Given the description of an element on the screen output the (x, y) to click on. 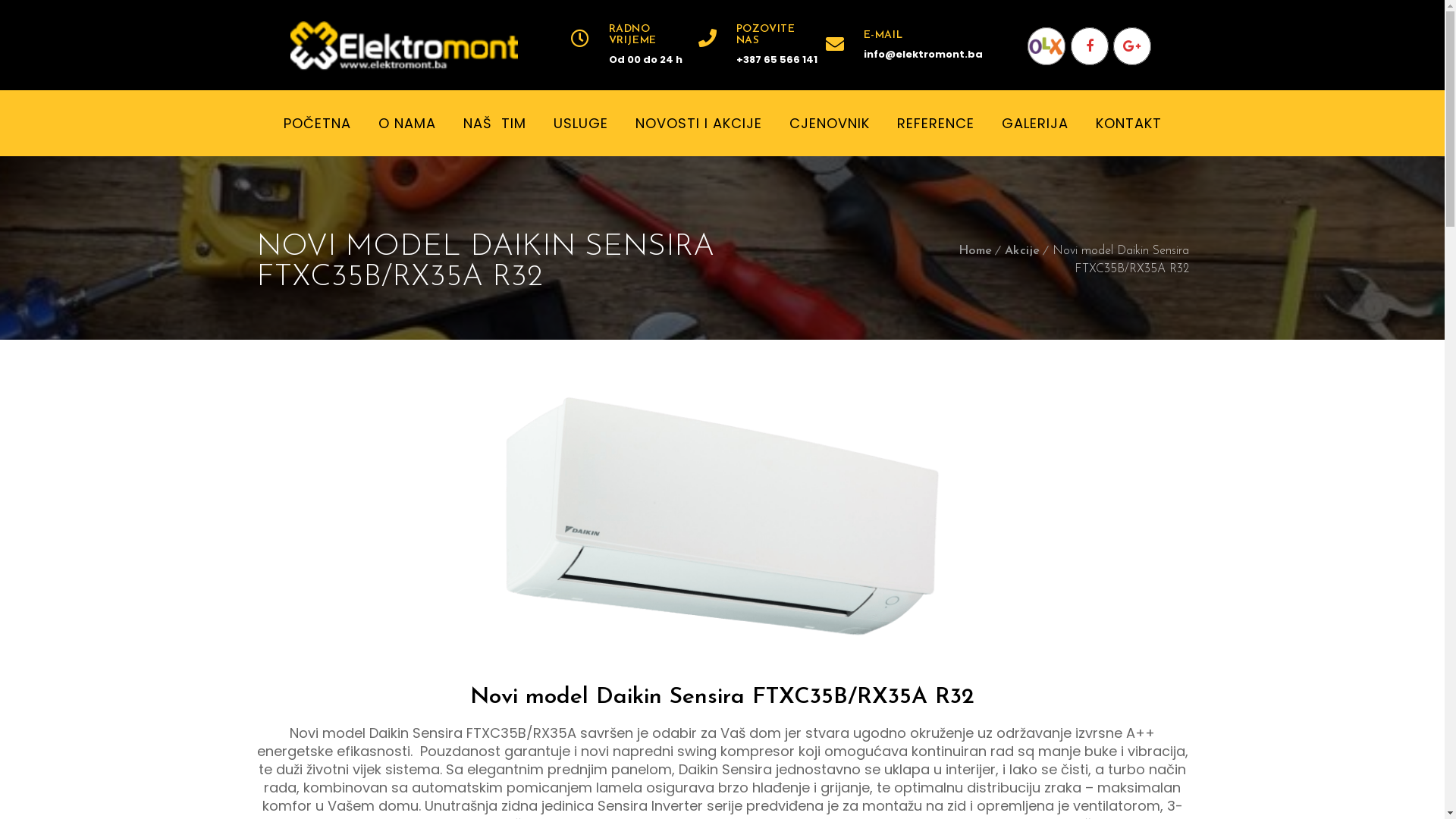
NOVOSTI I AKCIJE Element type: text (698, 123)
Akcije Element type: text (1021, 250)
KONTAKT Element type: text (1127, 123)
REFERENCE Element type: text (934, 123)
GALERIJA Element type: text (1034, 123)
CJENOVNIK Element type: text (828, 123)
info@elektromont.ba Element type: text (903, 53)
Facebook Element type: text (1089, 46)
O NAMA Element type: text (406, 123)
Google Plus Element type: text (1132, 46)
Home Element type: text (975, 250)
USLUGE Element type: text (580, 123)
